Given the description of an element on the screen output the (x, y) to click on. 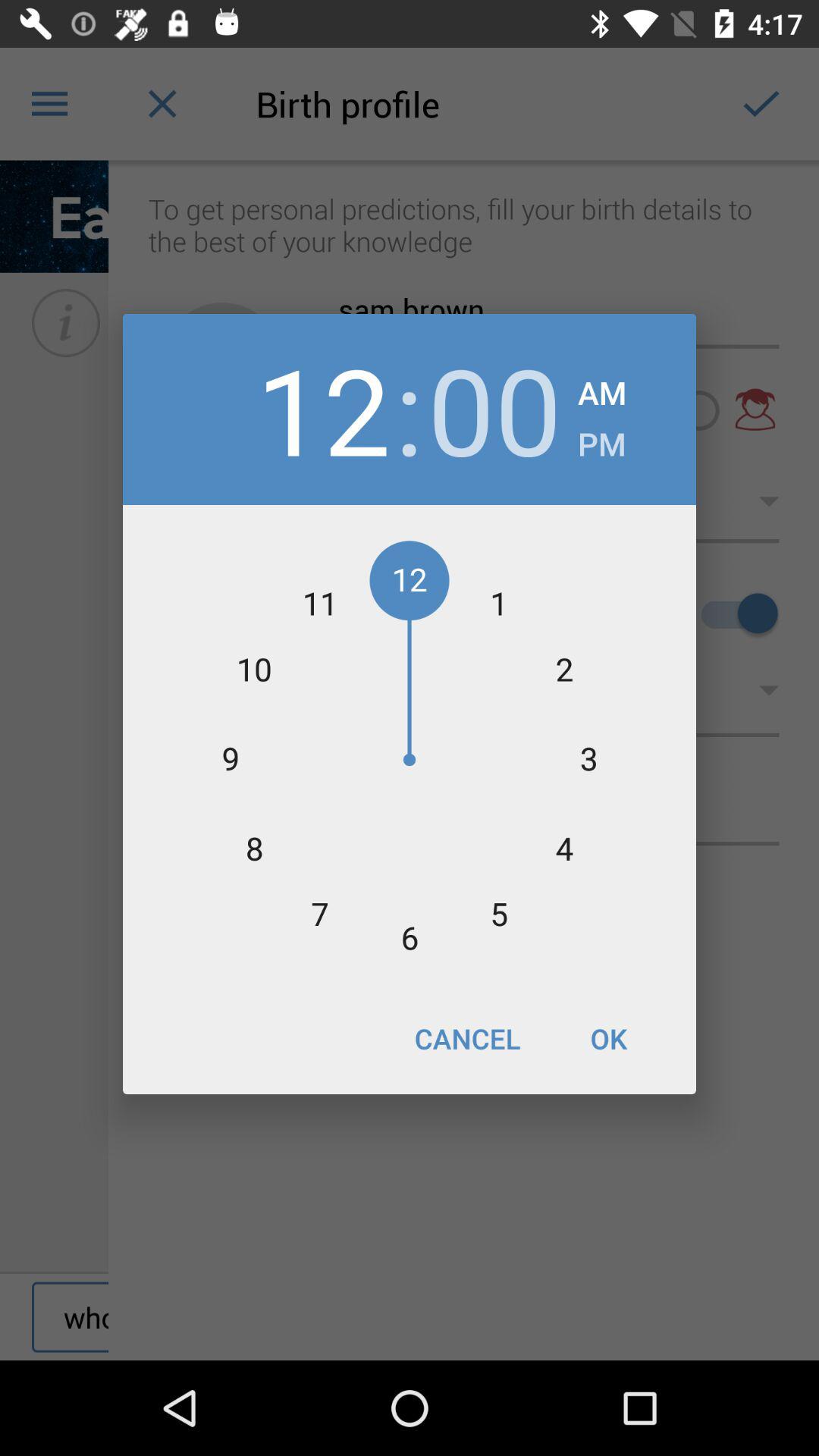
open icon at the bottom right corner (608, 1038)
